Given the description of an element on the screen output the (x, y) to click on. 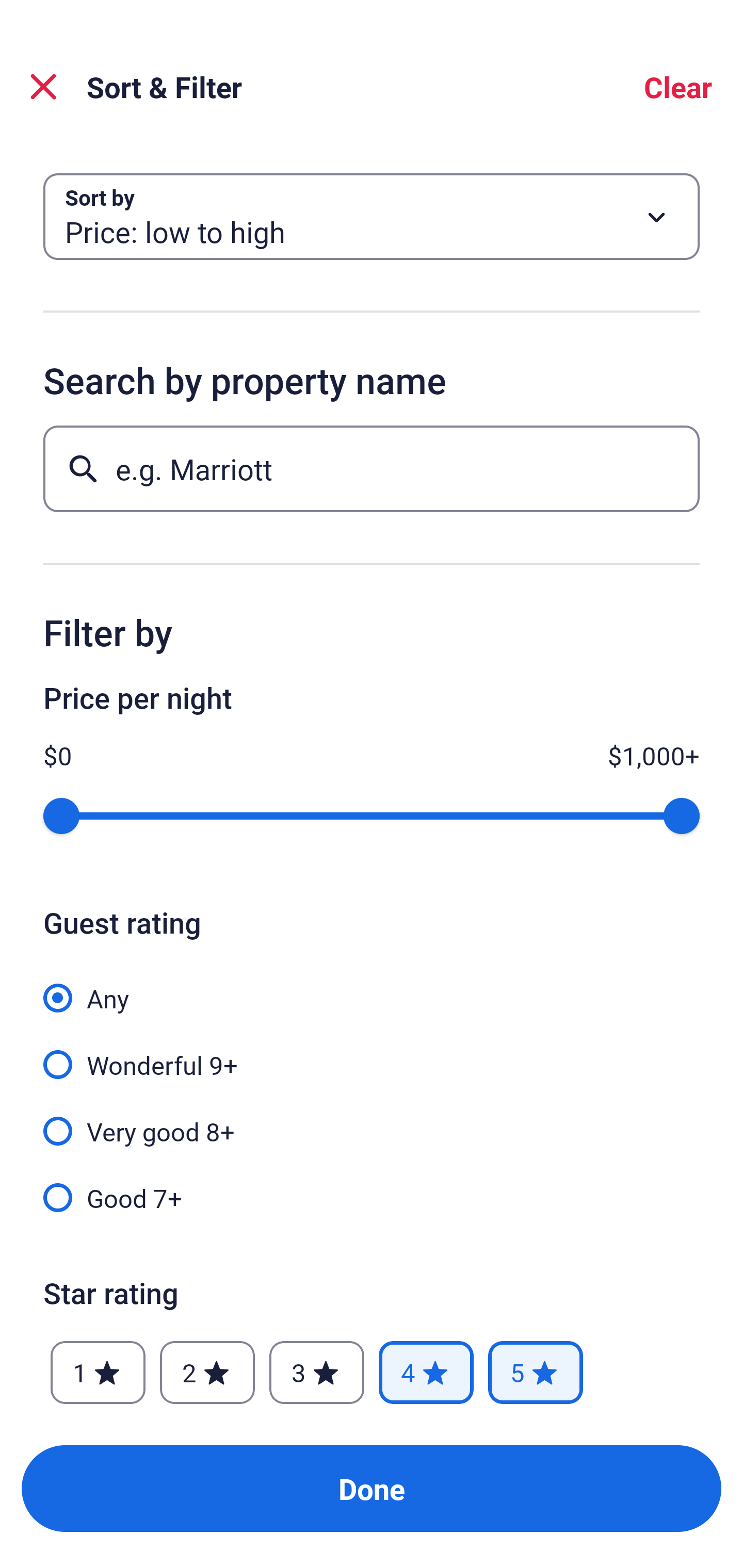
Close Sort and Filter (43, 86)
Clear (677, 86)
Sort by Button Price: low to high (371, 217)
e.g. Marriott Button (371, 468)
Wonderful 9+ (371, 1053)
Very good 8+ (371, 1120)
Good 7+ (371, 1197)
1 (97, 1372)
2 (206, 1372)
3 (316, 1372)
4 (426, 1372)
5 (535, 1372)
Apply and close Sort and Filter Done (371, 1488)
